Given the description of an element on the screen output the (x, y) to click on. 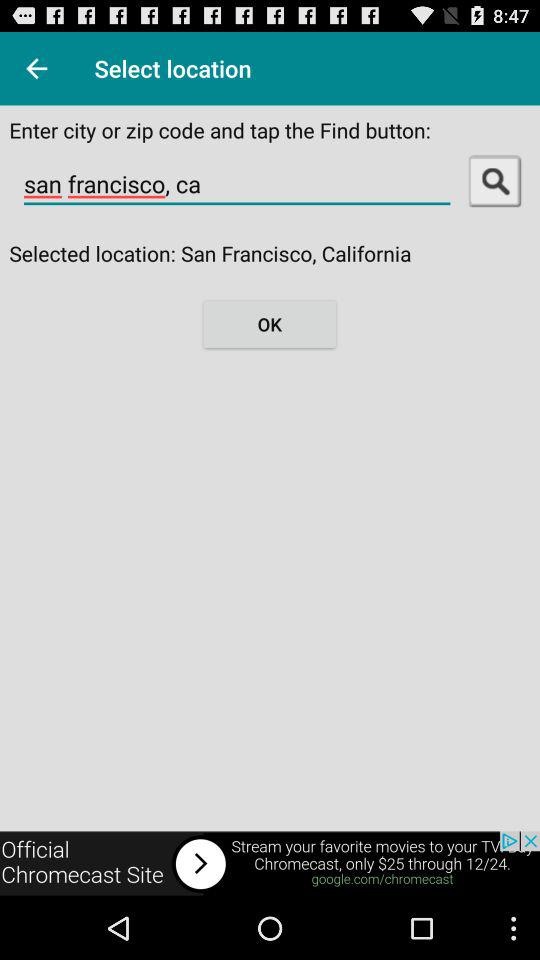
search on the app (494, 180)
